Given the description of an element on the screen output the (x, y) to click on. 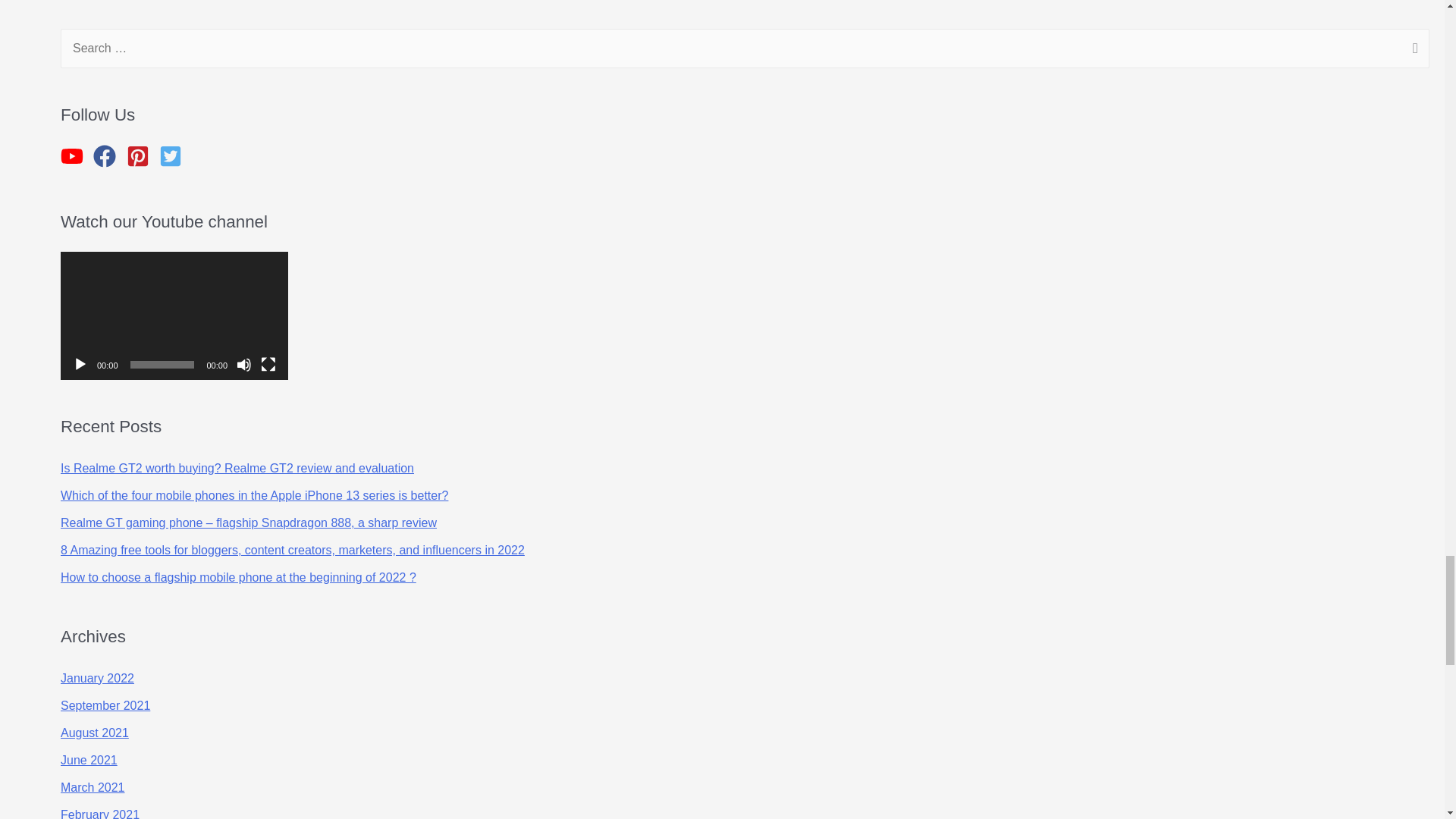
Play (79, 364)
Mute (243, 364)
Search (1411, 49)
Search (1411, 49)
Fullscreen (268, 364)
